Given the description of an element on the screen output the (x, y) to click on. 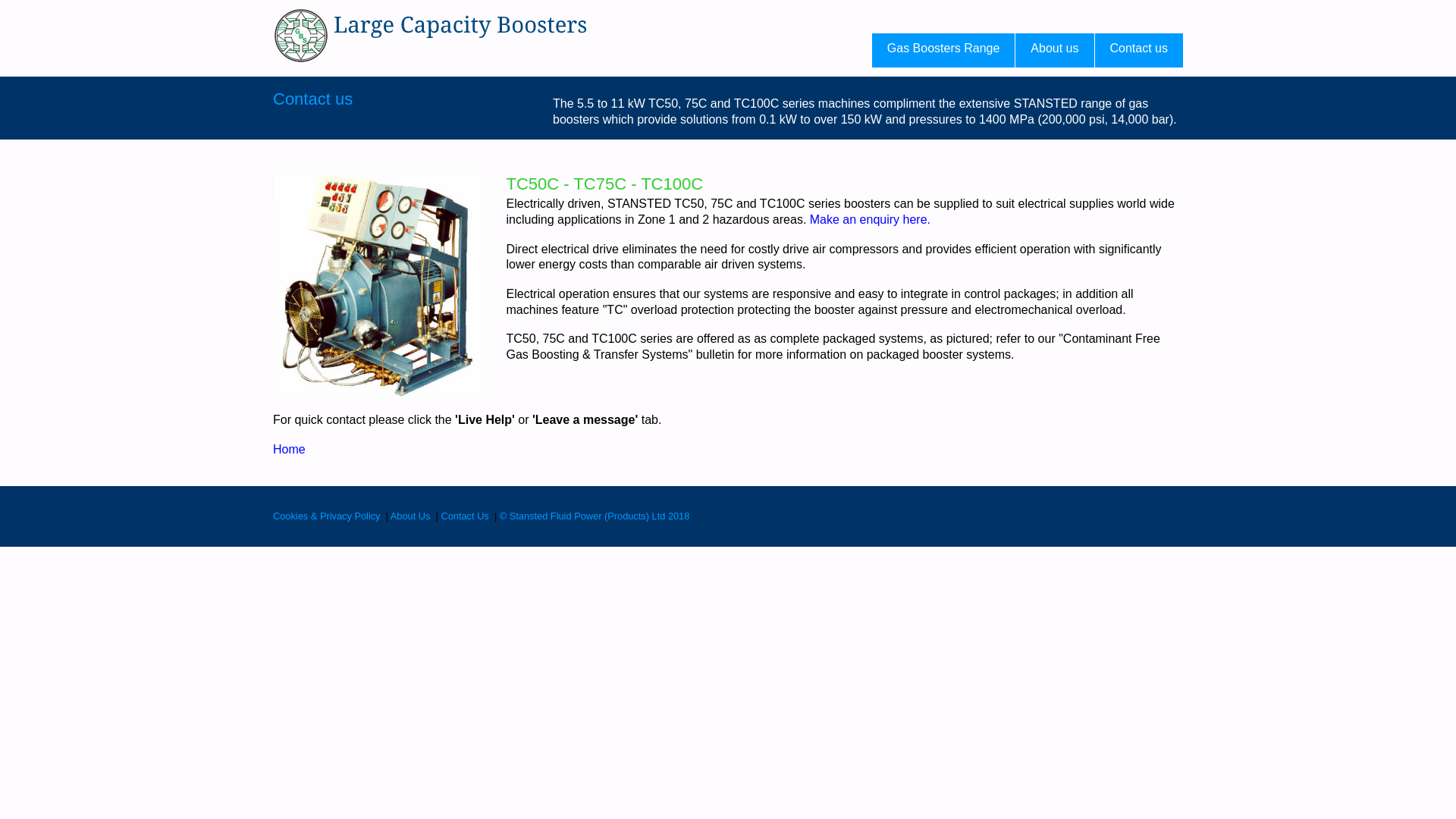
Contact us (1138, 50)
Contact us (312, 98)
Home (289, 449)
Make an enquiry here. (868, 219)
About us (1053, 50)
Gas Boosters Range (943, 50)
About Us (410, 515)
Contact Us (464, 515)
